Given the description of an element on the screen output the (x, y) to click on. 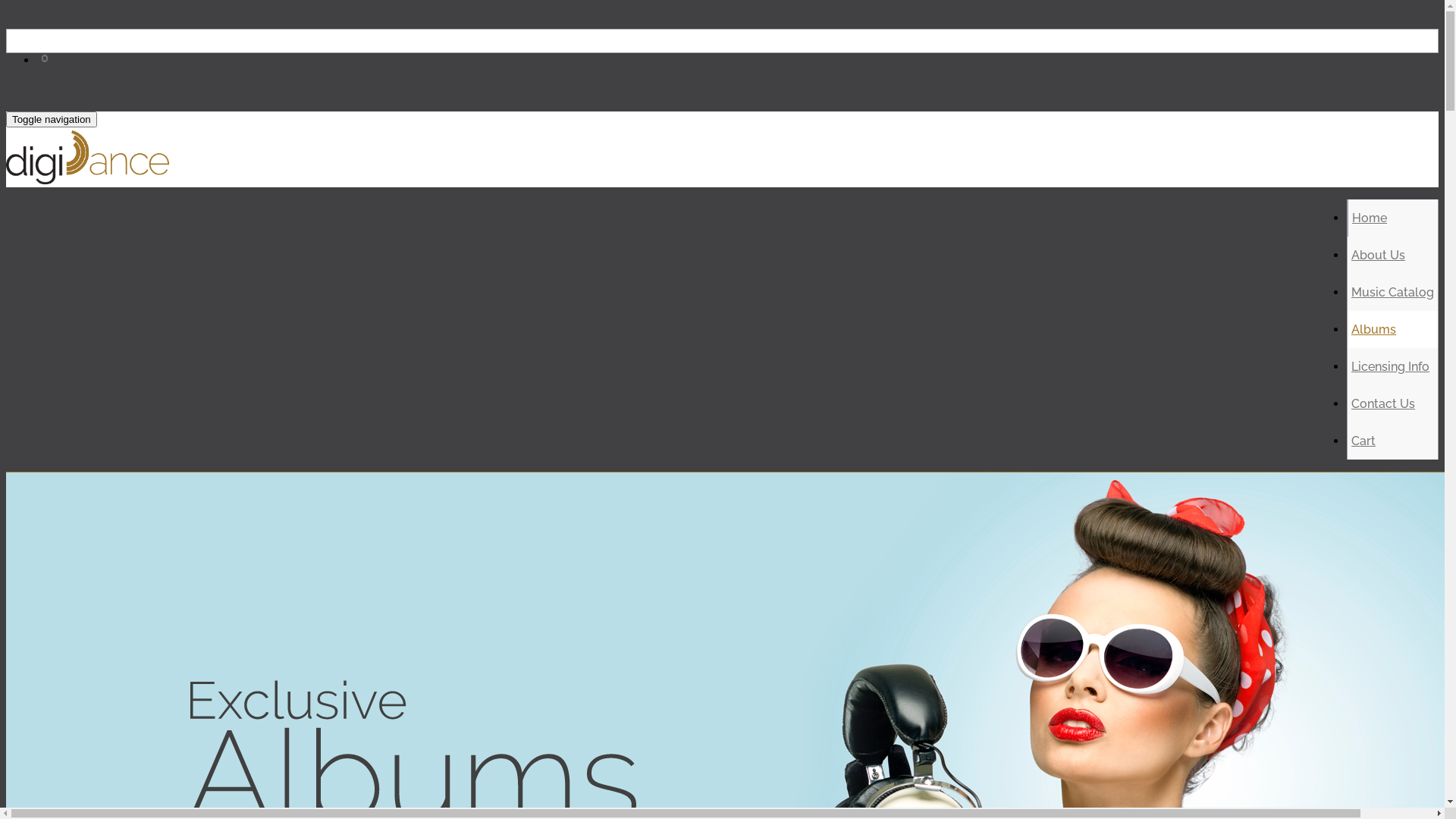
About Us Element type: text (1378, 254)
Licensing Info Element type: text (1390, 366)
0
    Element type: text (45, 75)
Toggle navigation Element type: text (51, 119)
Contact Us Element type: text (1383, 403)
Music Catalog Element type: text (1392, 292)
Cart Element type: text (1363, 440)
Albums Element type: text (1373, 329)
Home Element type: text (1369, 217)
